Given the description of an element on the screen output the (x, y) to click on. 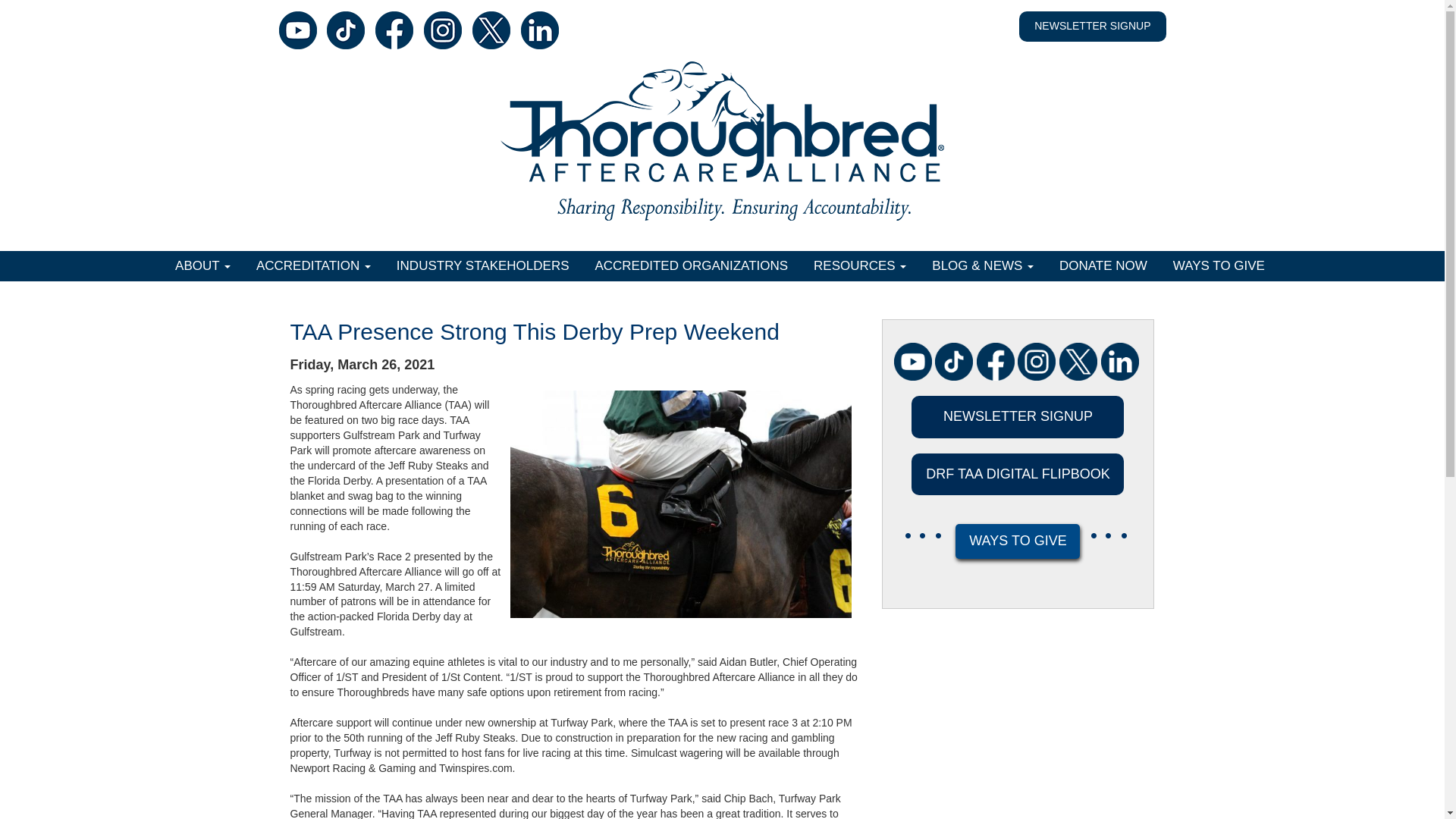
ACCREDITATION (315, 265)
DONATE NOW (1104, 265)
ABOUT (204, 265)
About (204, 265)
WAYS TO GIVE (1220, 265)
ACCREDITED ORGANIZATIONS (693, 265)
Accreditation (315, 265)
RESOURCES (862, 265)
INDUSTRY STAKEHOLDERS (485, 265)
NEWSLETTER SIGNUP (1091, 25)
